Given the description of an element on the screen output the (x, y) to click on. 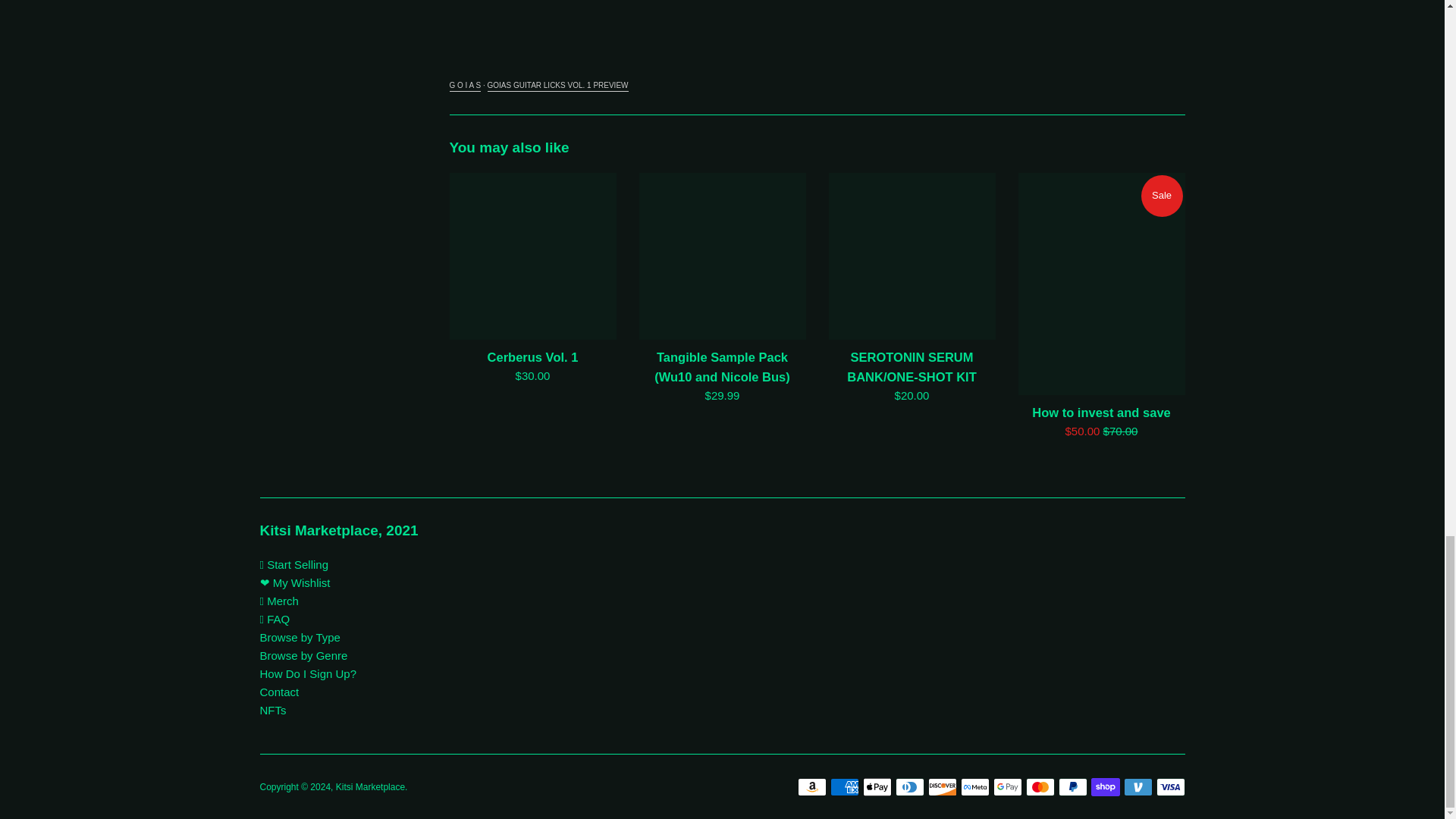
G O I A S (464, 86)
Apple Pay (877, 787)
Meta Pay (973, 787)
Shop Pay (1104, 787)
Mastercard (1039, 787)
Amazon (812, 787)
Diners Club (909, 787)
PayPal (1072, 787)
Cerberus Vol. 1 (531, 255)
Discover (942, 787)
Venmo (1138, 787)
Google Pay (1007, 787)
GOIAS GUITAR LICKS VOL. 1 PREVIEW (557, 86)
American Express (844, 787)
